Given the description of an element on the screen output the (x, y) to click on. 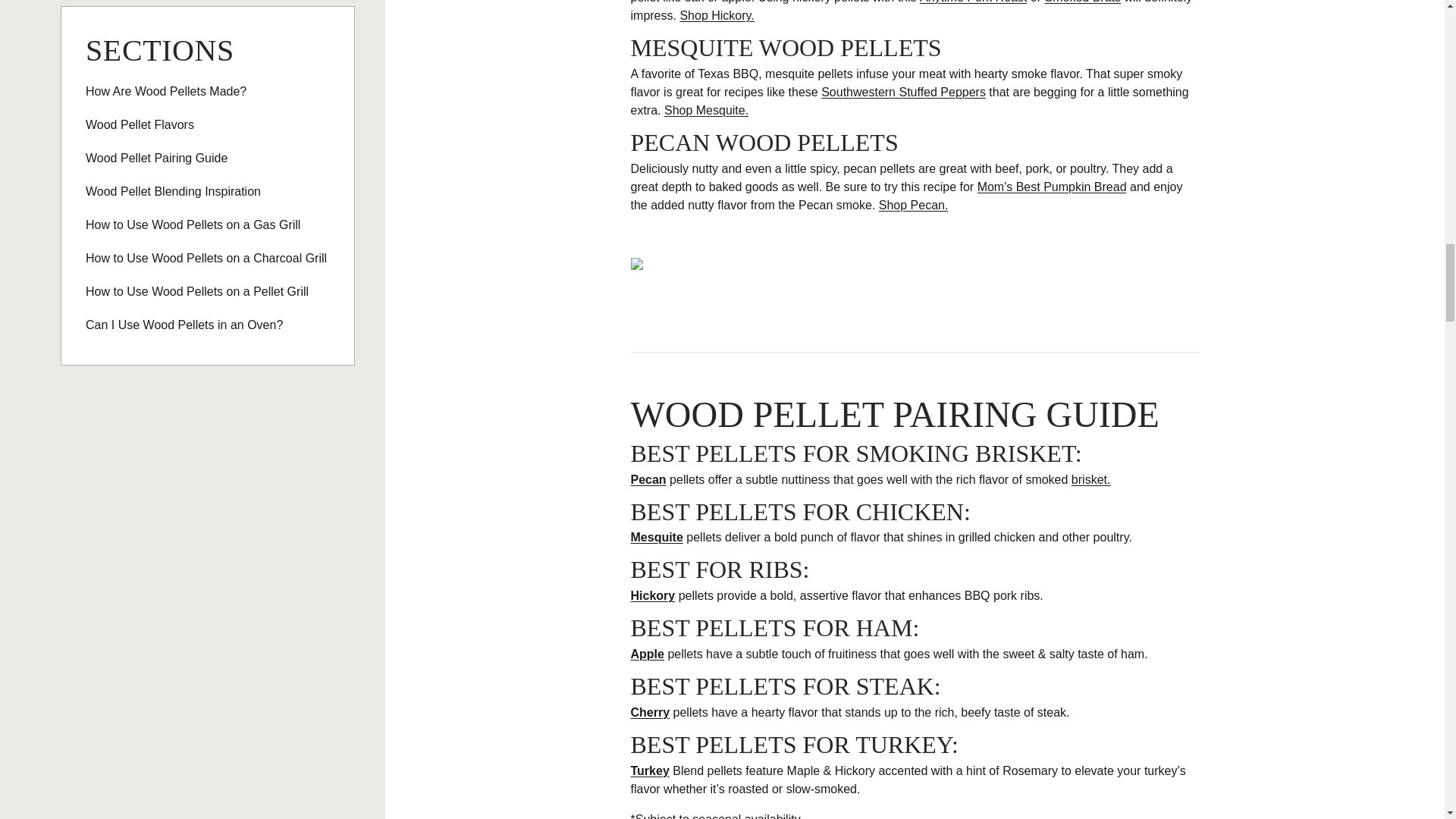
Opens in a new tab (973, 2)
Opens in a new tab (1083, 2)
